Given the description of an element on the screen output the (x, y) to click on. 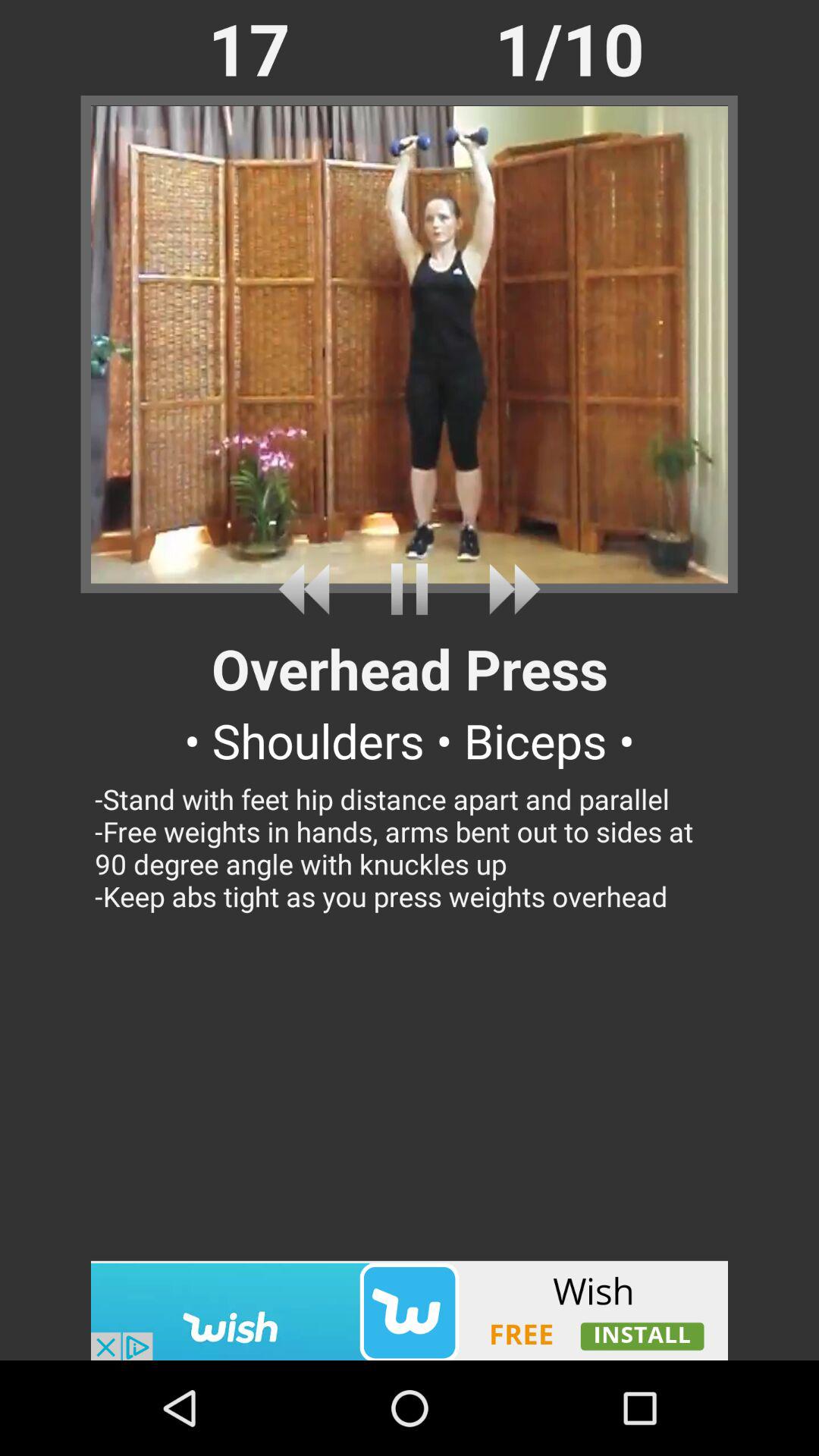
pause/resume video (409, 589)
